Given the description of an element on the screen output the (x, y) to click on. 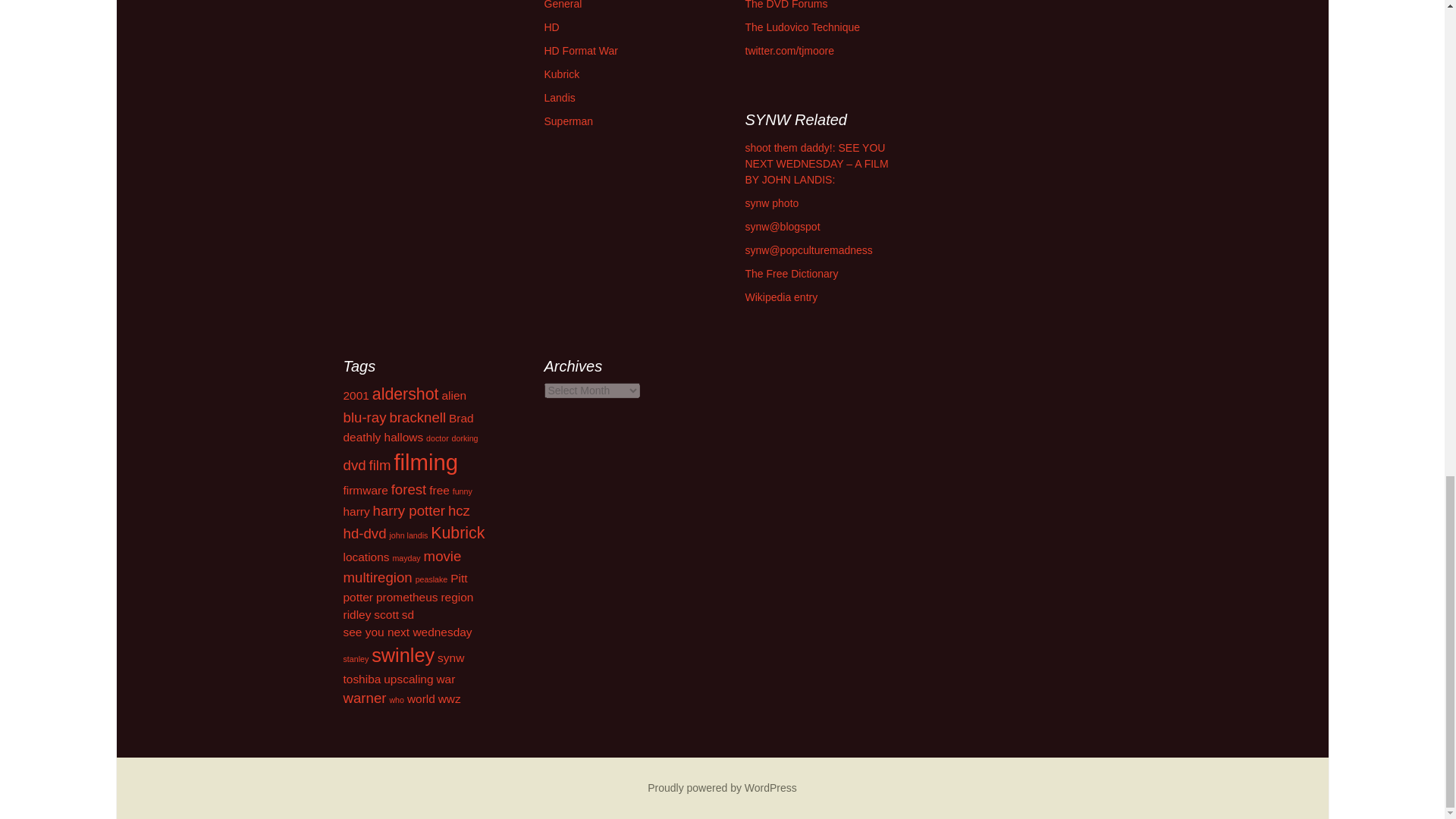
General (563, 4)
HD Format War (580, 50)
Kubrick (561, 73)
My Twitter Profile (788, 50)
Superman (569, 121)
The Ludovico Technique (802, 27)
The DVD Forums (785, 4)
HD (551, 27)
synw photo (770, 203)
Landis (559, 97)
